Given the description of an element on the screen output the (x, y) to click on. 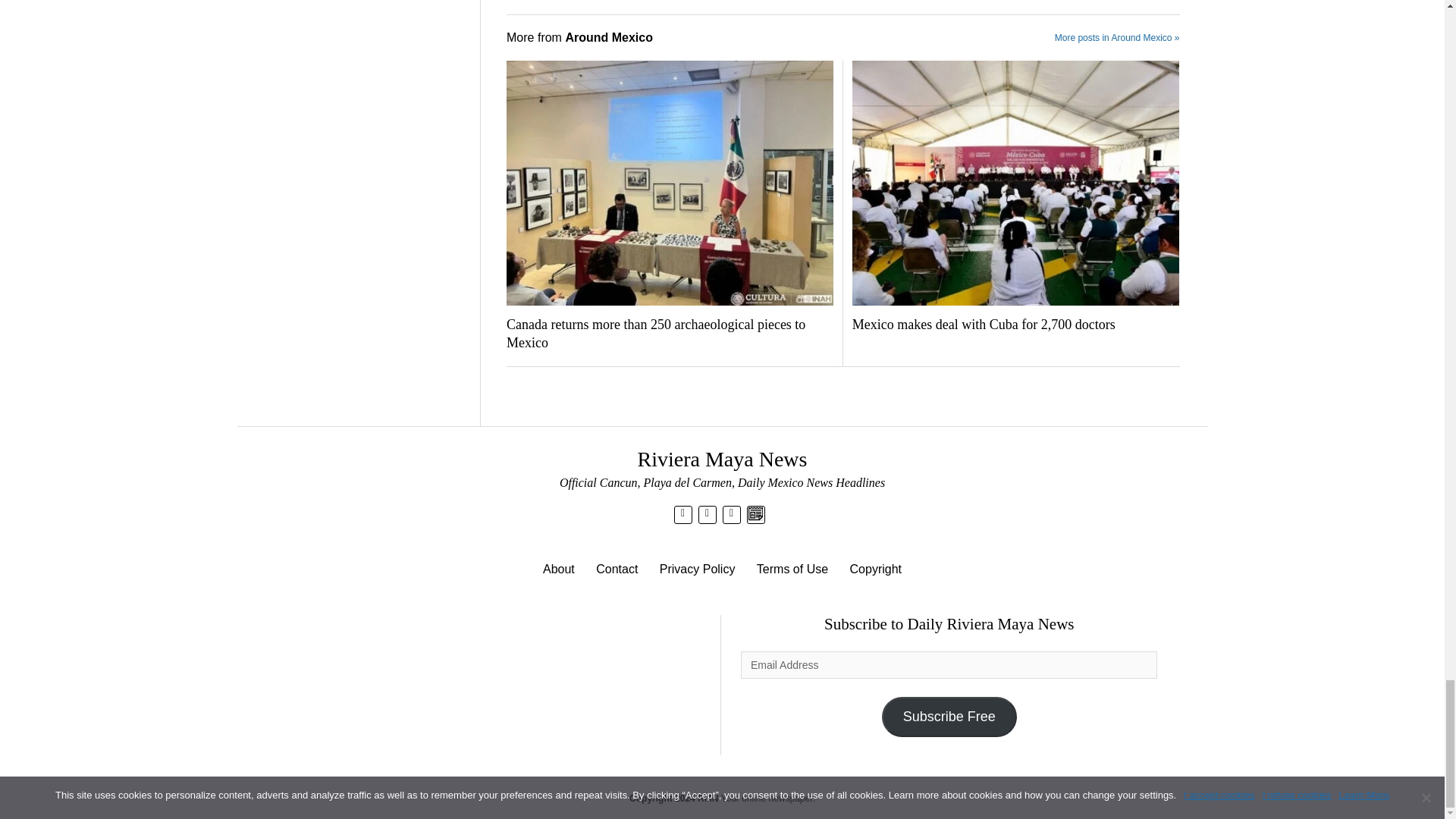
rss (731, 512)
facebook (706, 512)
